Given the description of an element on the screen output the (x, y) to click on. 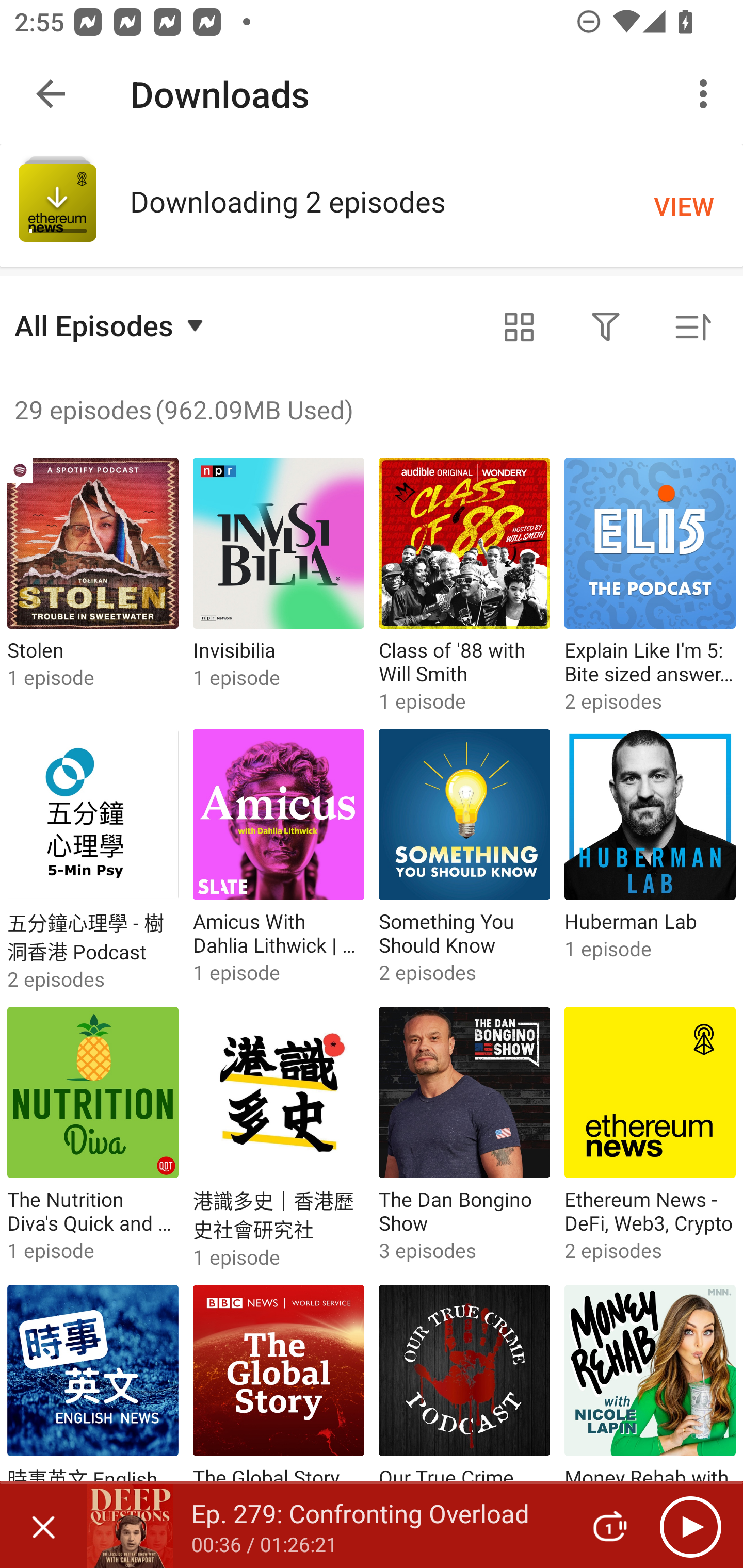
Navigate up (50, 93)
More options (706, 93)
5.0 Downloading 2 episodes VIEW (371, 205)
All Episodes (111, 325)
 (518, 327)
 (605, 327)
 Sorted by oldest first (692, 327)
Stolen 1 episode (92, 585)
Invisibilia 1 episode (278, 585)
Class of '88 with Will Smith 1 episode (464, 585)
五分鐘心理學 - 樹洞香港 Podcast 2 episodes (92, 860)
Something You Should Know 2 episodes (464, 860)
Huberman Lab 1 episode (650, 860)
港識多史｜香港歷史社會研究社 1 episode (278, 1138)
The Dan Bongino Show 3 episodes (464, 1138)
Ethereum News - DeFi, Web3, Crypto 2 episodes (650, 1138)
時事英文 English News 1 episode (92, 1413)
The Global Story 3 episodes (278, 1413)
Our True Crime Podcast 1 episode (464, 1413)
Money Rehab with Nicole Lapin 1 episode (650, 1413)
Ep. 279: Confronting Overload 00:36 / 01:26:21 (326, 1525)
Play (690, 1526)
